Given the description of an element on the screen output the (x, y) to click on. 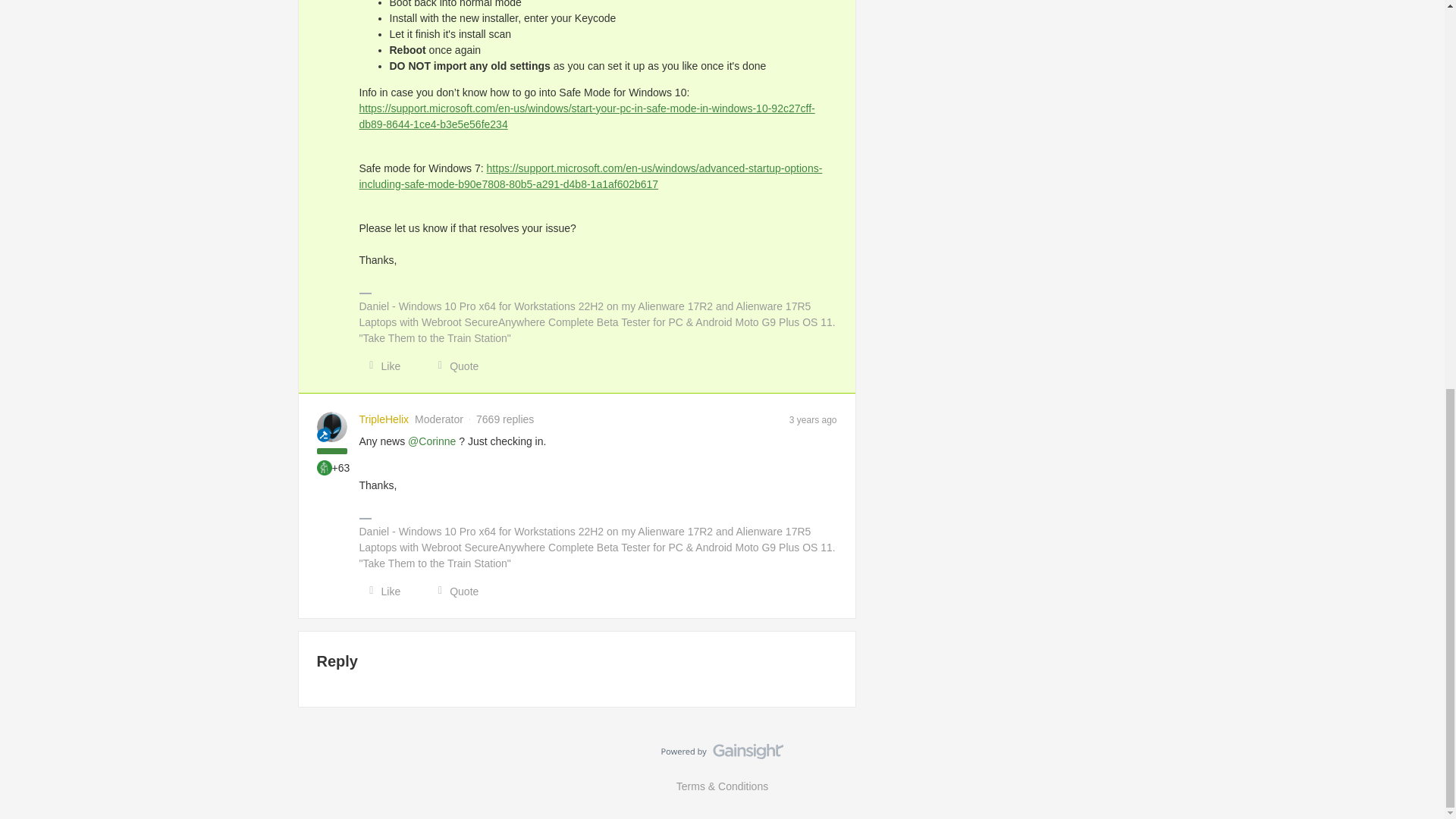
Like (380, 590)
TripleHelix (384, 419)
Quote (453, 590)
Like (380, 365)
Moderator (323, 435)
TripleHelix (384, 419)
3 years ago (813, 419)
Visit Gainsight.com (722, 754)
Quote (453, 365)
Cyber Sherpa (324, 467)
